Given the description of an element on the screen output the (x, y) to click on. 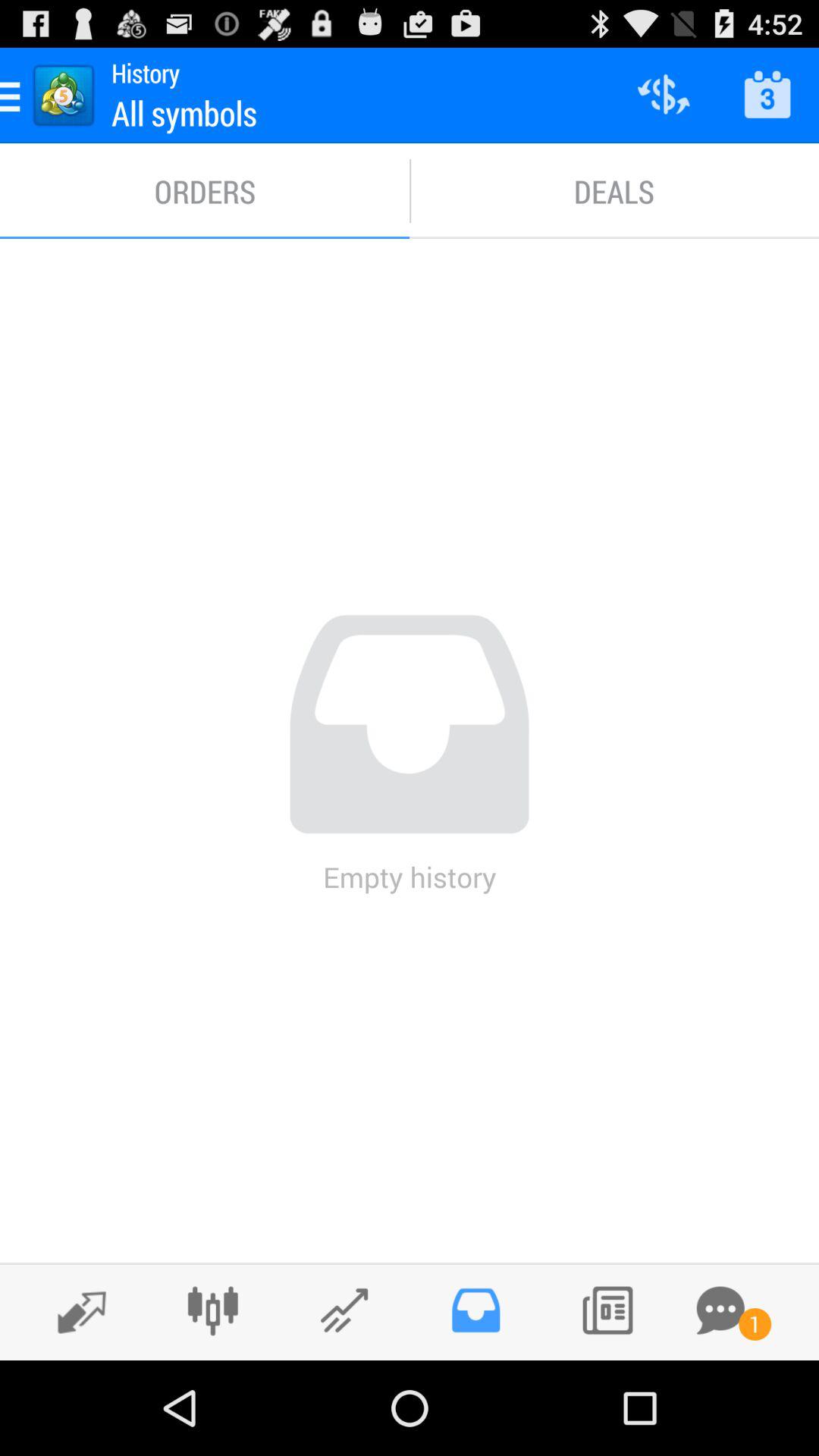
open the deals icon (614, 190)
